Given the description of an element on the screen output the (x, y) to click on. 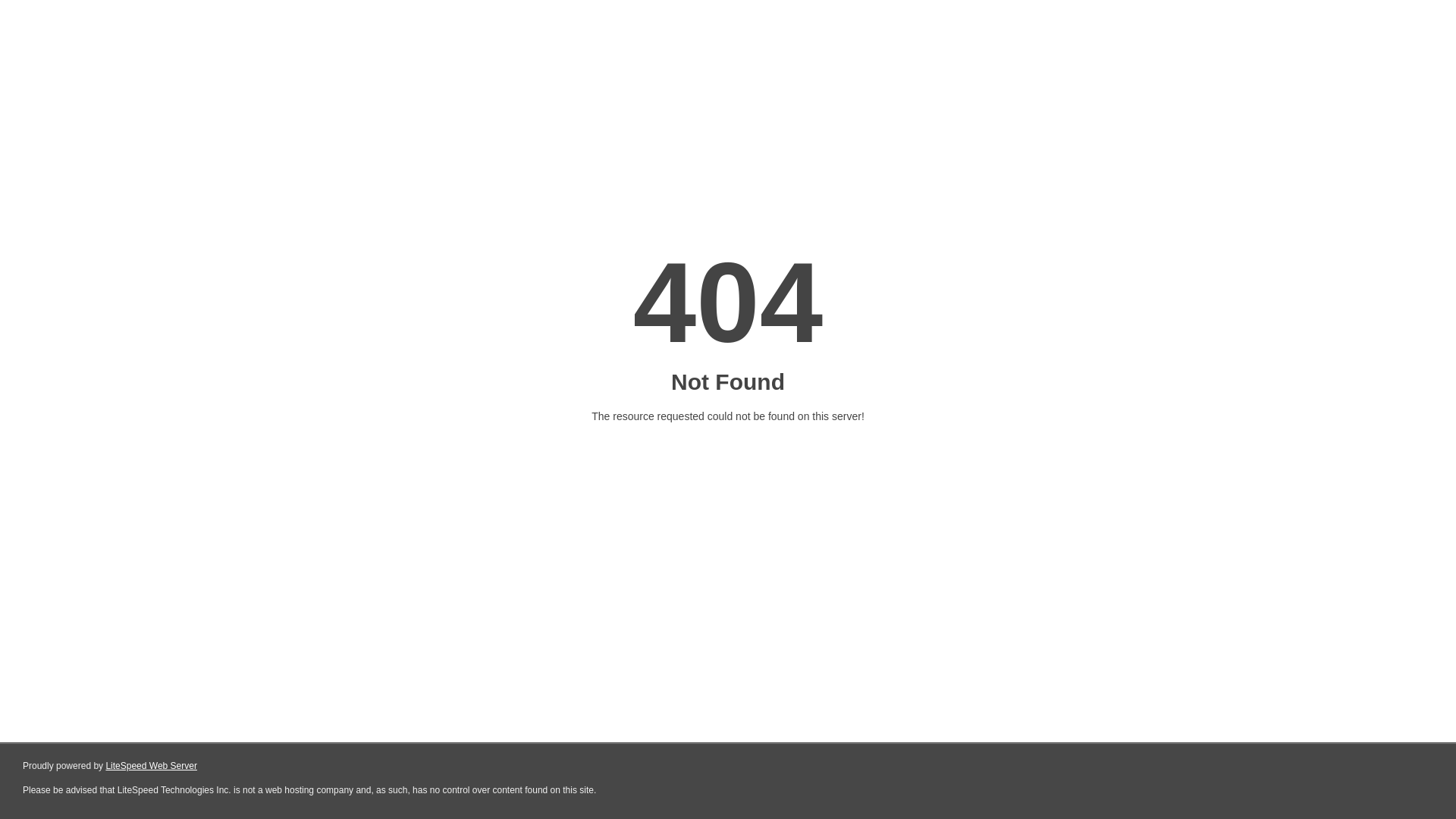
LiteSpeed Web Server Element type: text (151, 765)
